Given the description of an element on the screen output the (x, y) to click on. 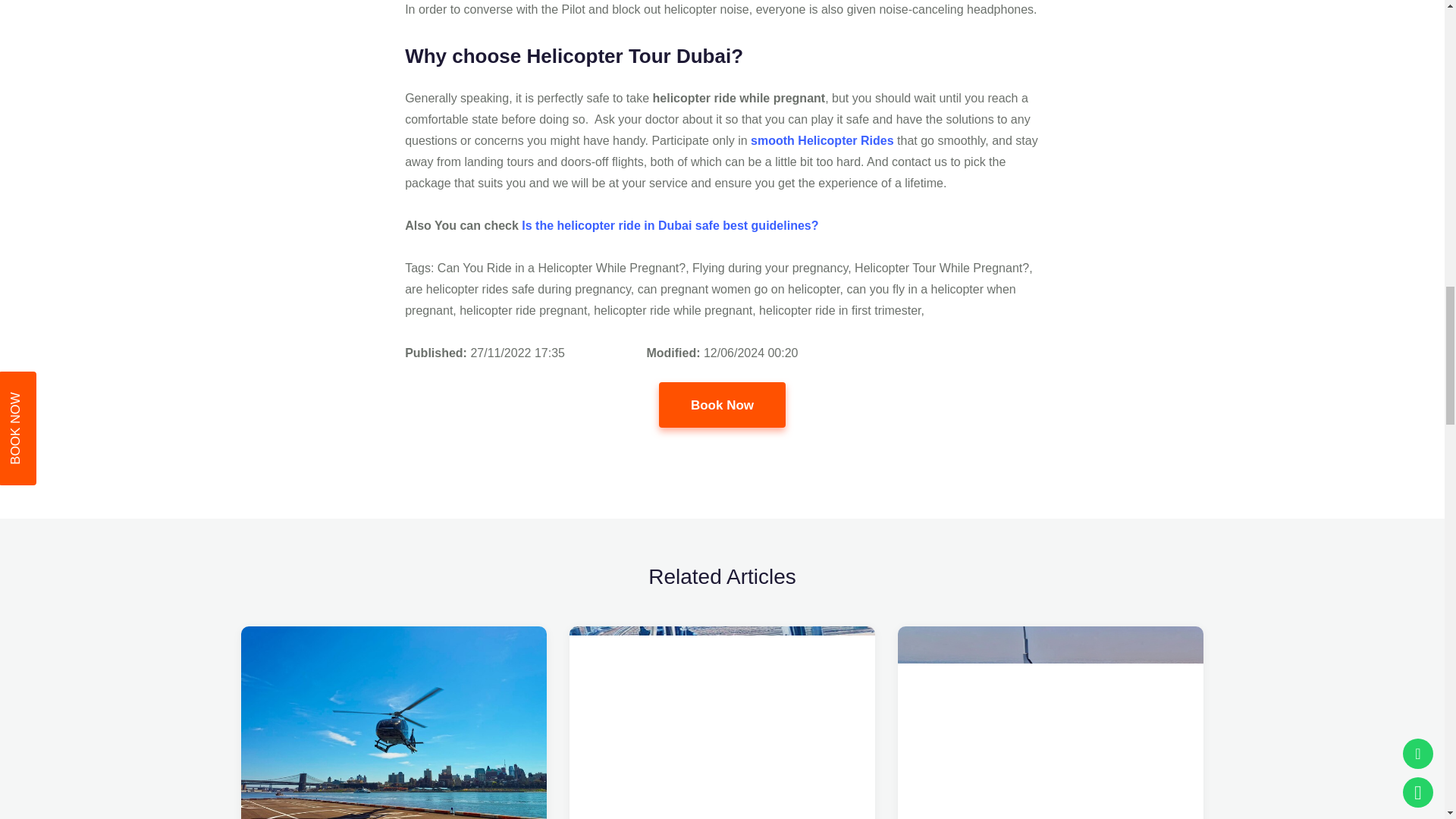
smooth Helicopter Rides (820, 140)
Is the helicopter ride in Dubai safe best guidelines? (669, 225)
Book Now (721, 404)
